Given the description of an element on the screen output the (x, y) to click on. 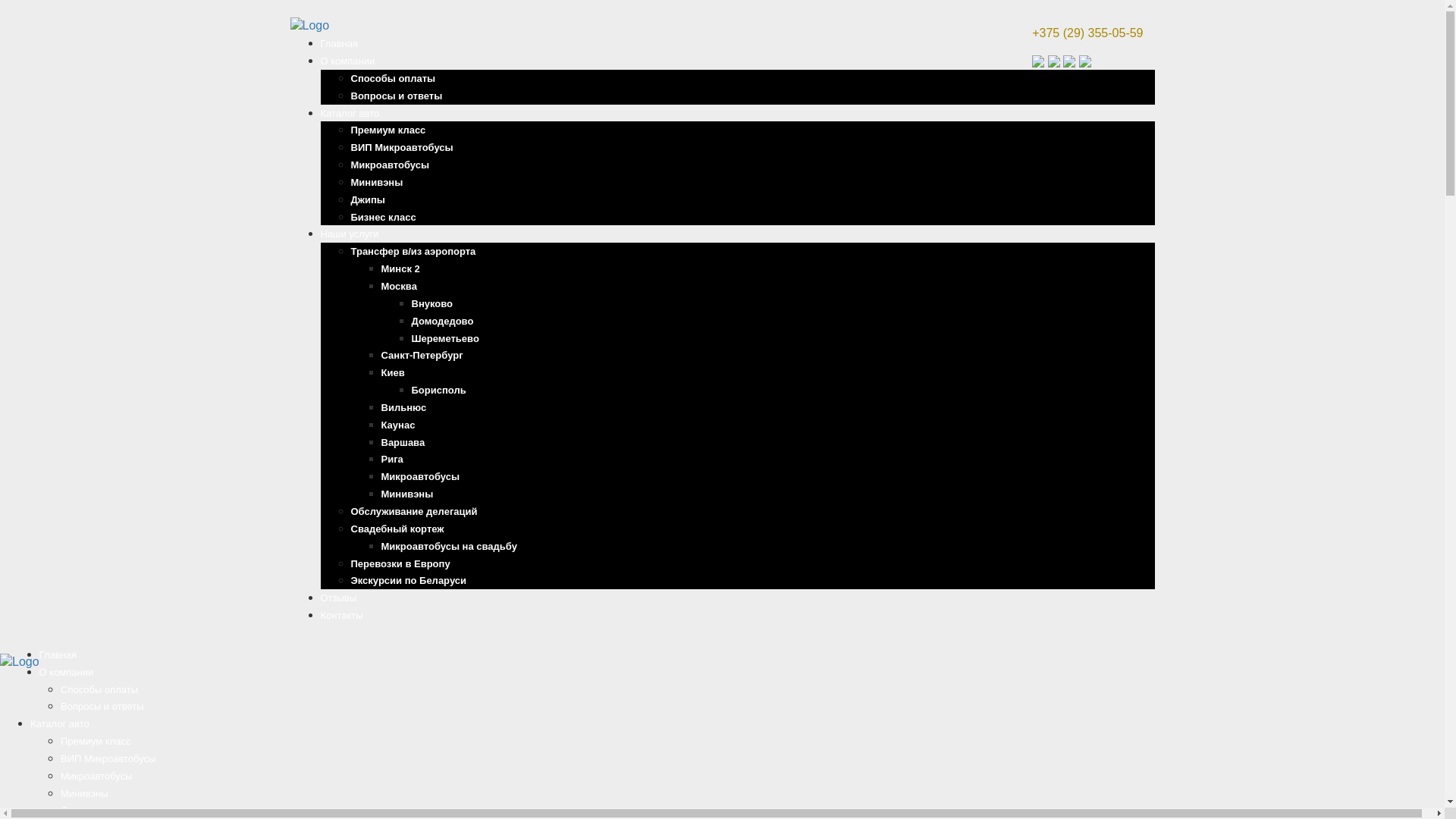
Home Element type: hover (19, 662)
+375 (29) 355-05-59 Element type: text (1093, 33)
Home Element type: hover (309, 25)
